Given the description of an element on the screen output the (x, y) to click on. 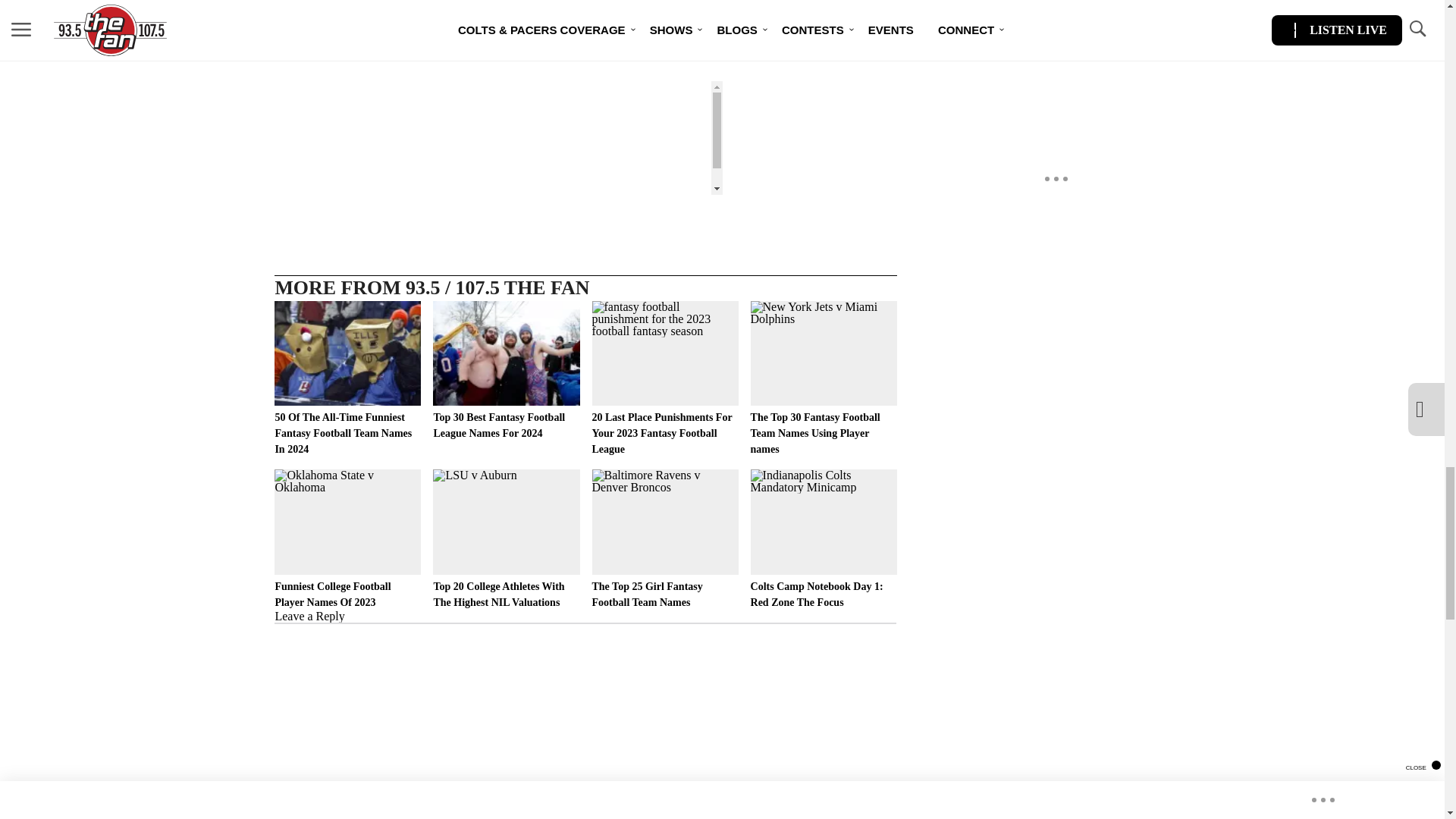
Comment Form (585, 720)
Embedded content (608, 137)
